Given the description of an element on the screen output the (x, y) to click on. 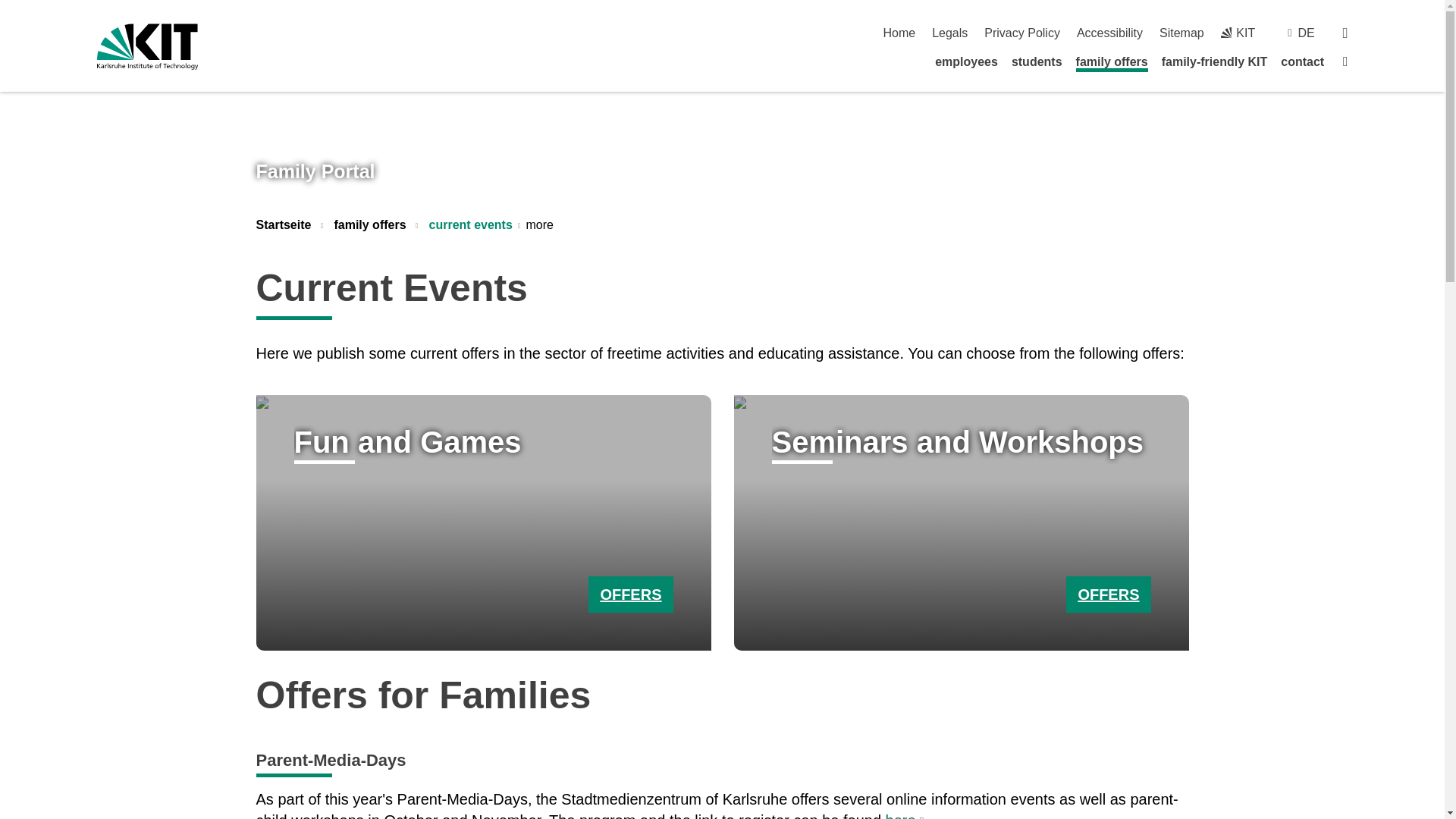
KIT-Homepage (147, 46)
Home (898, 32)
KIT (1238, 32)
DE (1305, 32)
employees (965, 61)
students (1036, 61)
startpage (898, 32)
Privacy Policy (1021, 32)
Sitemap (1181, 32)
KIT-Homepage (1238, 32)
Accessibility (1109, 32)
Legals (949, 32)
Family Portal (315, 171)
